Given the description of an element on the screen output the (x, y) to click on. 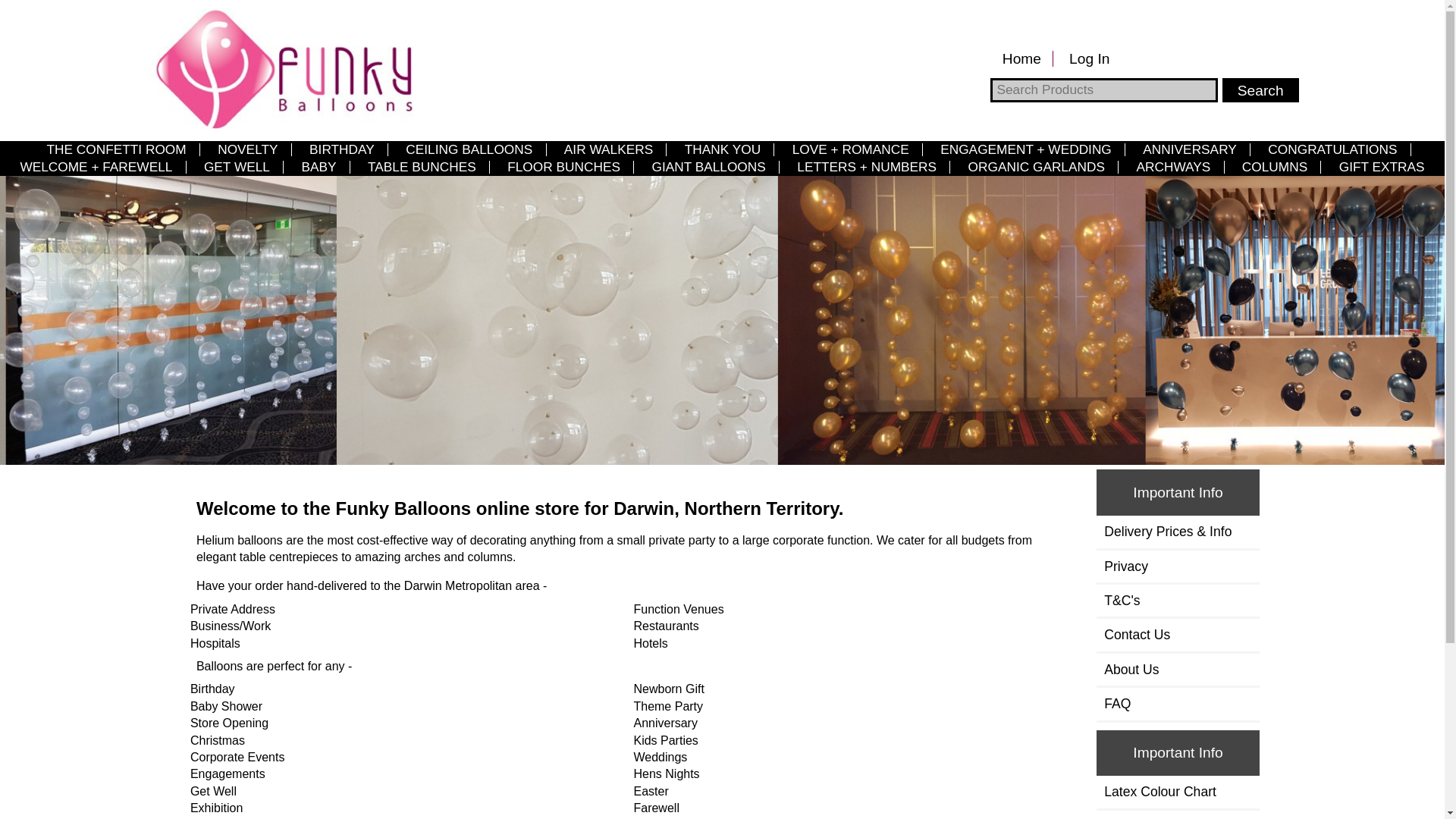
ARCHWAYS Element type: text (1173, 166)
COLUMNS Element type: text (1275, 166)
BABY Element type: text (318, 166)
ANNIVERSARY Element type: text (1189, 148)
FLOOR BUNCHES Element type: text (563, 166)
TABLE BUNCHES Element type: text (421, 166)
THE CONFETTI ROOM Element type: text (116, 148)
CEILING BALLOONS Element type: text (469, 148)
ENGAGEMENT + WEDDING Element type: text (1025, 148)
LOVE + ROMANCE Element type: text (850, 148)
Delivery Prices & Info Element type: text (1177, 531)
THANK YOU Element type: text (722, 148)
AIR WALKERS Element type: text (608, 148)
NOVELTY Element type: text (247, 148)
T&C's Element type: text (1177, 600)
About Us Element type: text (1177, 669)
FAQ Element type: text (1177, 703)
Latex Colour Chart Element type: text (1177, 791)
GIANT BALLOONS Element type: text (708, 166)
Search Element type: text (1260, 90)
GET WELL Element type: text (237, 166)
Log In Element type: text (1089, 58)
ORGANIC GARLANDS Element type: text (1035, 166)
Privacy Element type: text (1177, 566)
Contact Us Element type: text (1177, 634)
CONGRATULATIONS Element type: text (1332, 148)
 Funky Balloons, Darwin (NT) - Balloon Delivery Online  Element type: hover (278, 67)
BIRTHDAY Element type: text (341, 148)
LETTERS + NUMBERS Element type: text (866, 166)
Home Element type: text (1021, 58)
GIFT EXTRAS Element type: text (1381, 166)
WELCOME + FAREWELL Element type: text (95, 166)
